Given the description of an element on the screen output the (x, y) to click on. 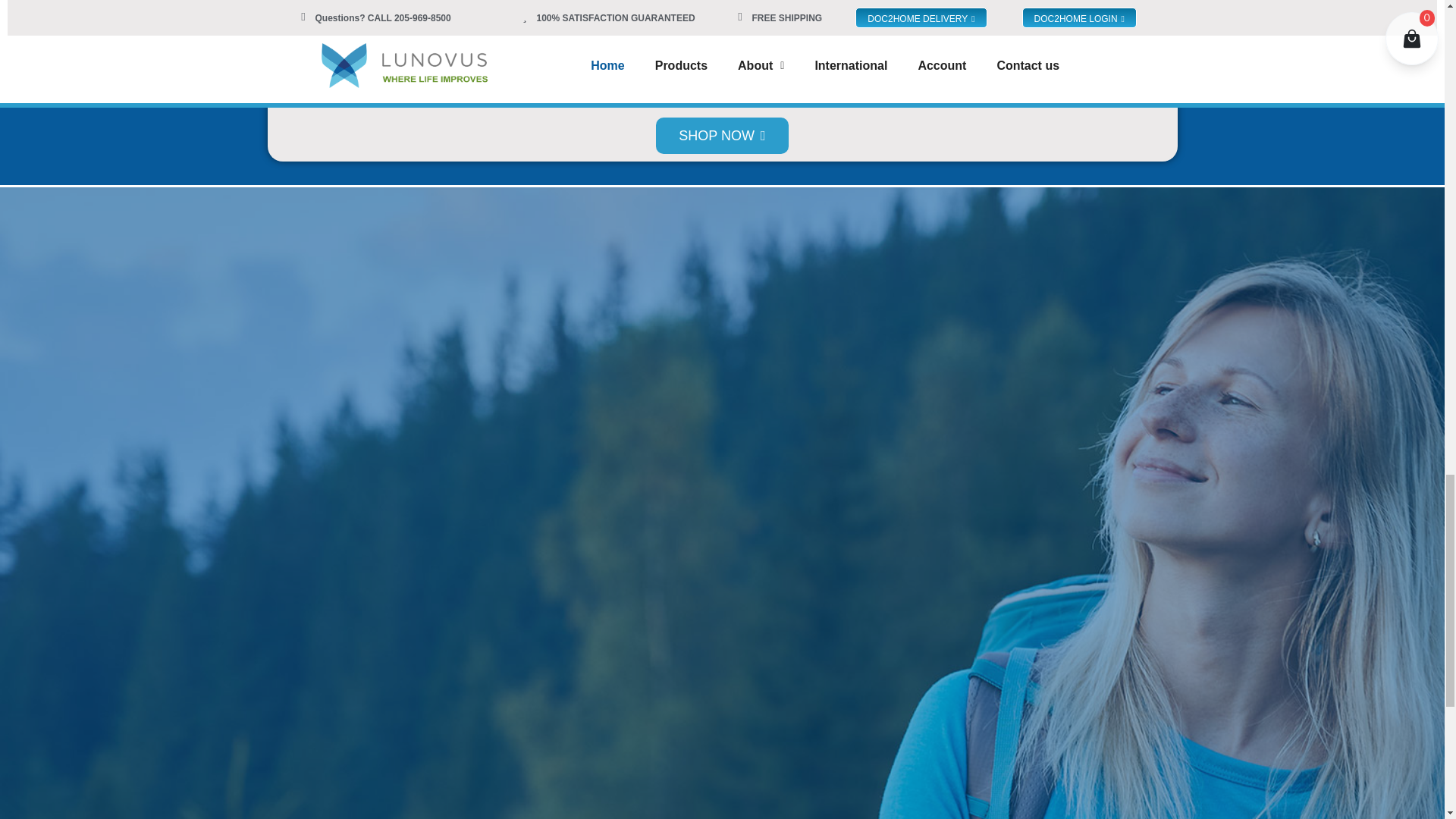
SHOP NOW (721, 135)
